Given the description of an element on the screen output the (x, y) to click on. 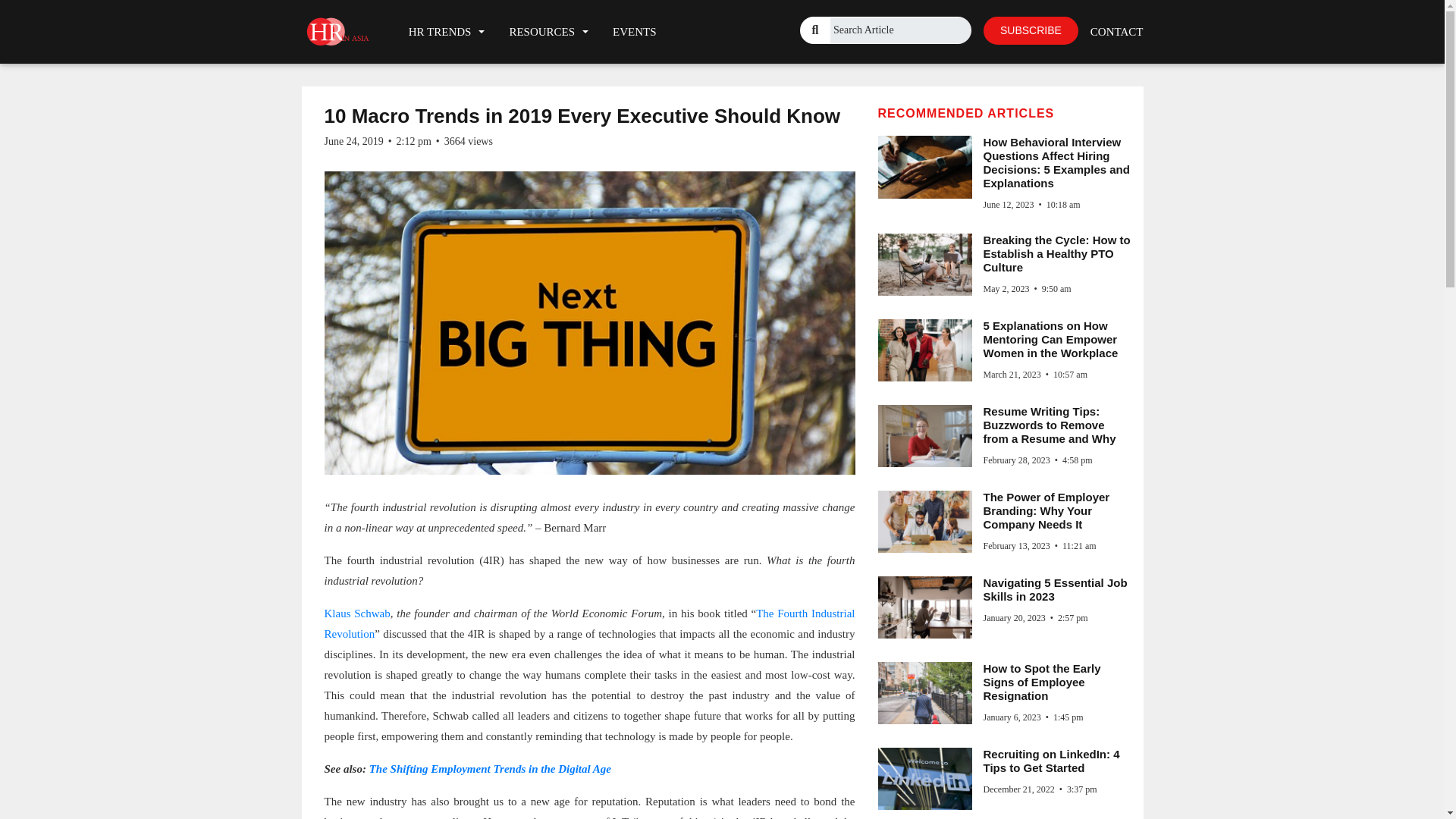
The Shifting Employment Trends in the Digital Age (490, 768)
EVENTS (633, 31)
Navigating 5 Essential Job Skills in 2023 (1054, 589)
How to Spot the Early Signs of Employee Resignation (1041, 681)
RESOURCES (547, 31)
HR TRENDS (446, 31)
The Power of Employer Branding: Why Your Company Needs It (1045, 510)
Breaking the Cycle: How to Establish a Healthy PTO Culture (1055, 253)
CONTACT (1110, 31)
SUBSCRIBE (1031, 30)
Recruiting on LinkedIn: 4 Tips to Get Started (1050, 760)
Klaus Schwab (357, 613)
